Given the description of an element on the screen output the (x, y) to click on. 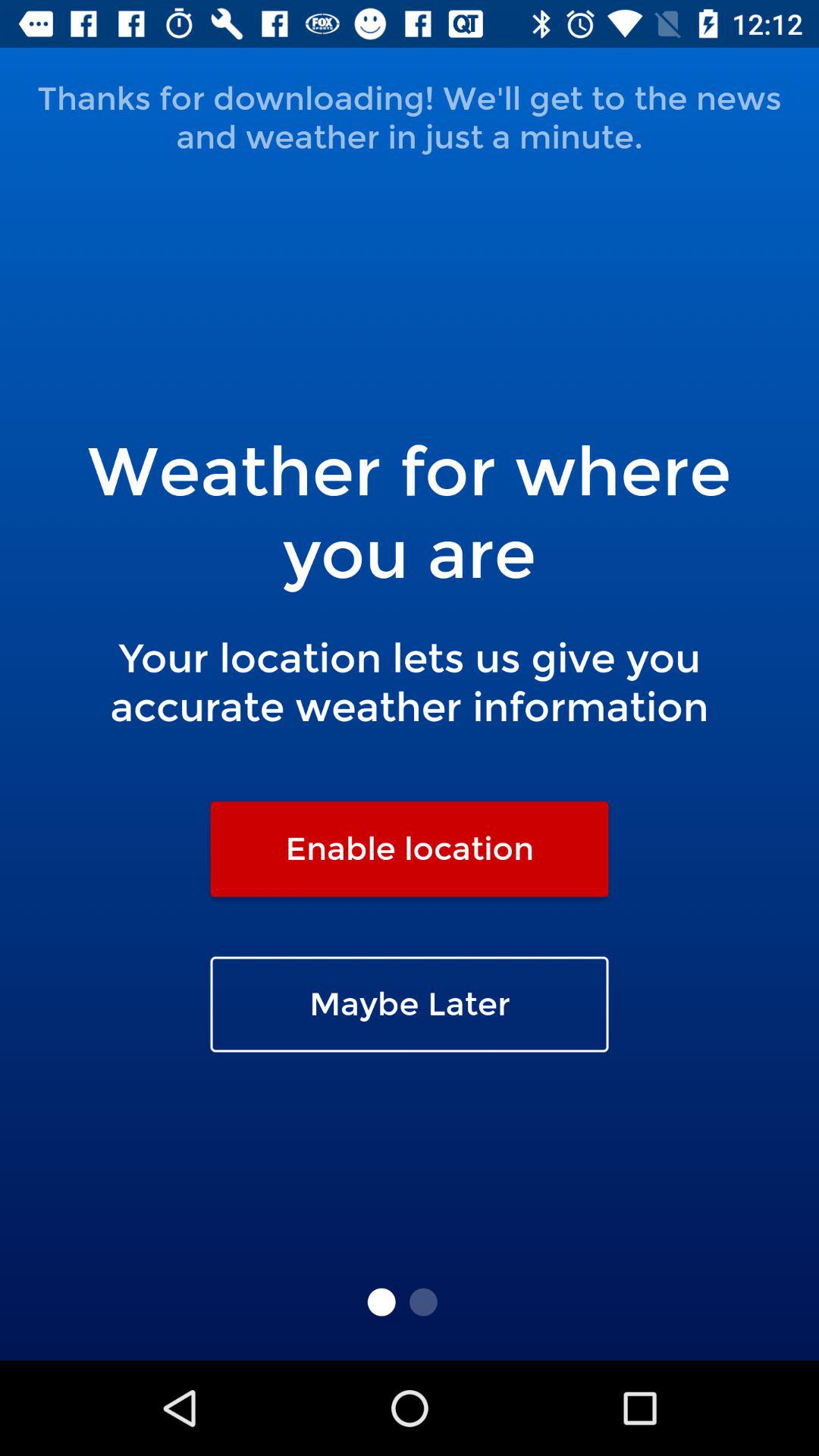
select item below the your location lets (409, 848)
